Given the description of an element on the screen output the (x, y) to click on. 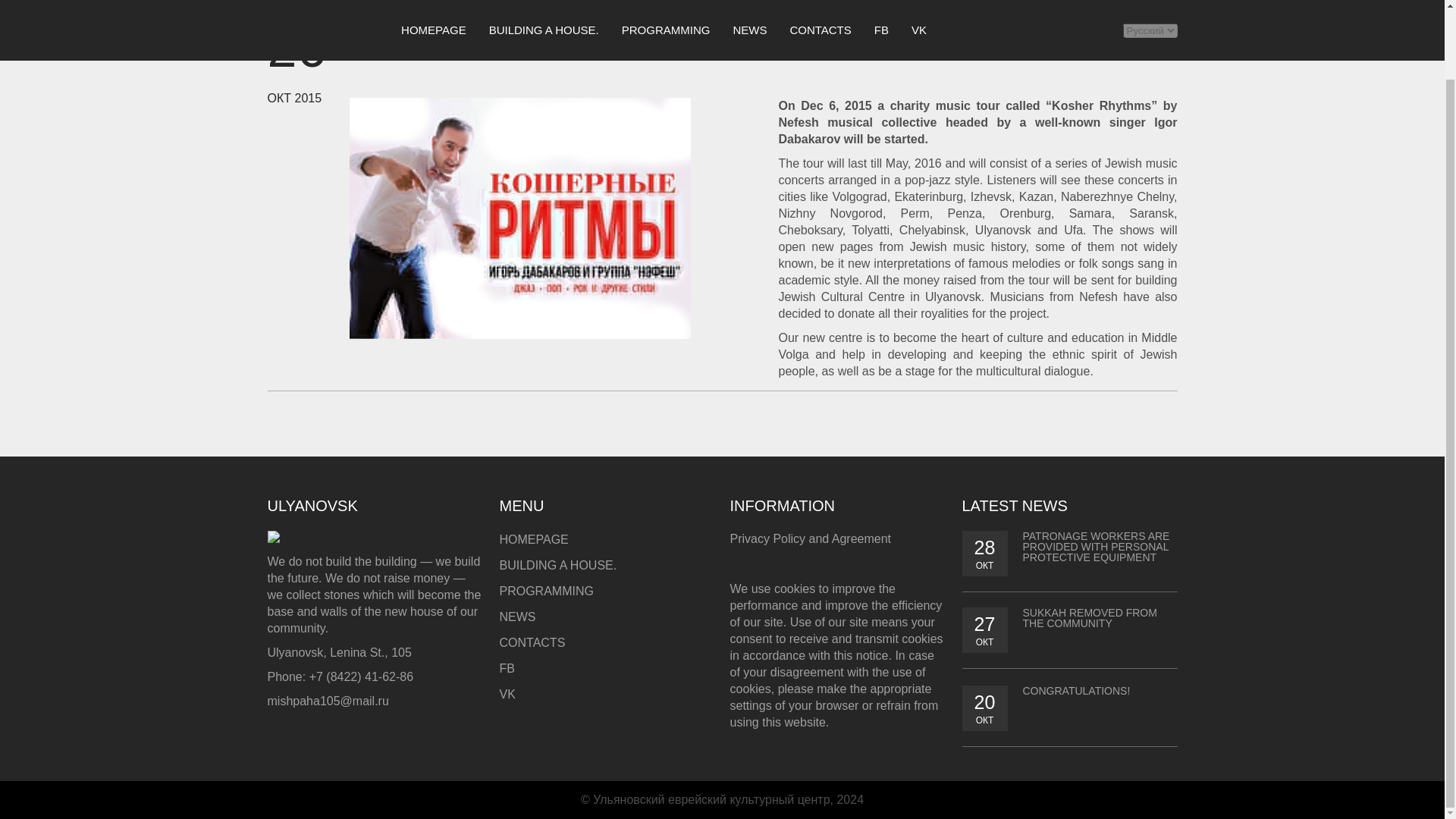
BUILDING A HOUSE. (557, 564)
CONTACTS (531, 642)
VK (507, 694)
NEWS (517, 616)
Agreement (861, 538)
PROGRAMMING (545, 590)
SUKKAH REMOVED FROM THE COMMUNITY (1089, 617)
Privacy Policy (767, 538)
FB (506, 667)
HOMEPAGE (533, 539)
